Given the description of an element on the screen output the (x, y) to click on. 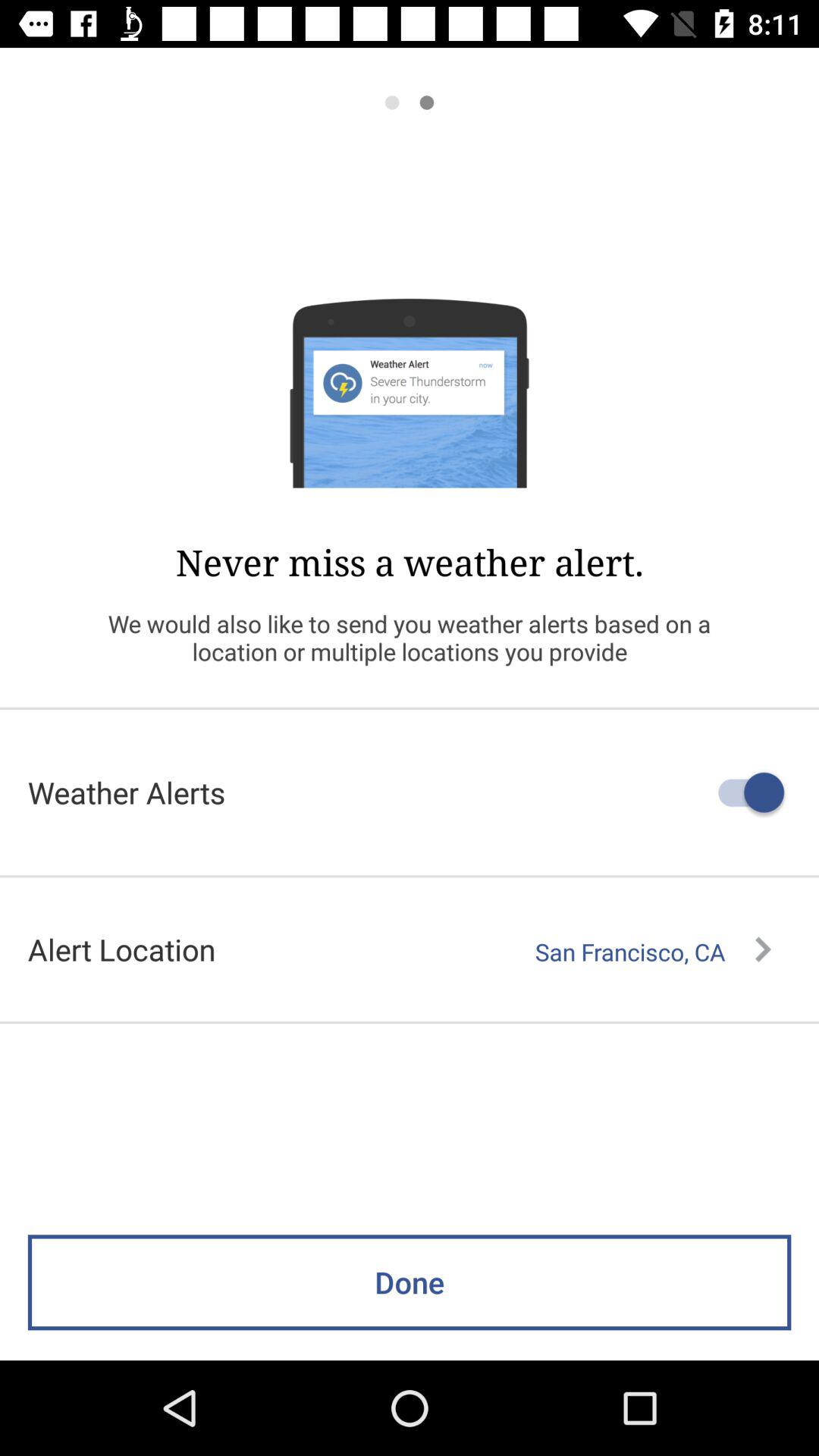
swipe until san francisco, ca icon (653, 951)
